Given the description of an element on the screen output the (x, y) to click on. 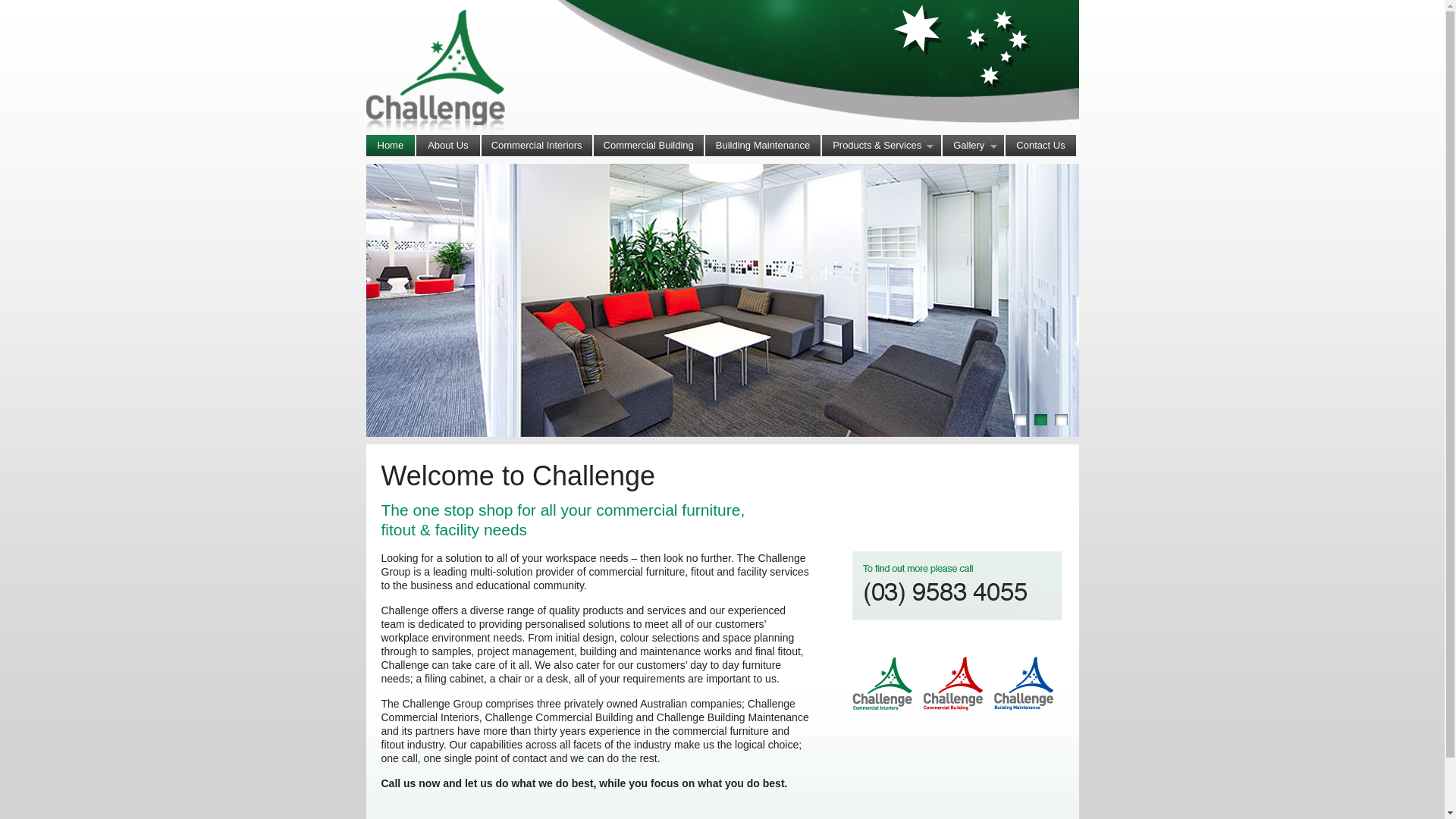
Building Maintenance Element type: text (762, 145)
1 Element type: text (1019, 419)
Contact Us Element type: text (1040, 145)
About Us Element type: text (447, 145)
Commercial Building Element type: text (648, 145)
Home Element type: text (389, 145)
commercial-building Element type: hover (952, 683)
2 Element type: text (1040, 419)
3 Element type: text (1060, 419)
contact-info Element type: hover (956, 585)
building-maintenance Element type: hover (1022, 683)
Commercial Interiors Element type: text (536, 145)
commercial-interiors Element type: hover (882, 683)
